Given the description of an element on the screen output the (x, y) to click on. 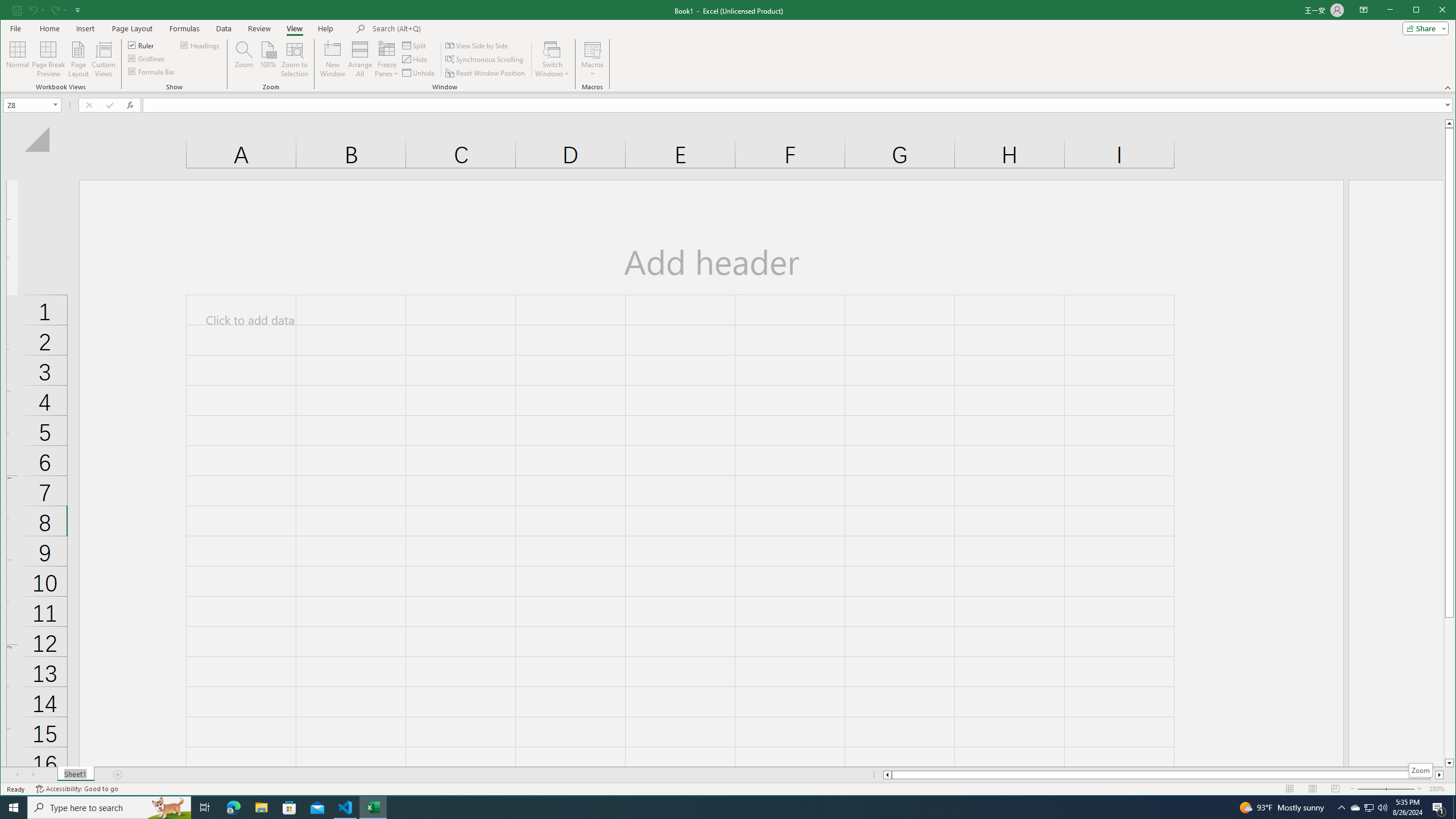
Formulas (184, 28)
View (294, 28)
Sheet1 (75, 774)
Visual Studio Code - 1 running window (345, 807)
File Explorer (261, 807)
Formula Bar (799, 104)
Page down (1449, 687)
Zoom Out (1378, 788)
Minimize (1419, 11)
Open (55, 105)
Page Break Preview (48, 59)
Zoom In (1419, 788)
Split (414, 45)
